Given the description of an element on the screen output the (x, y) to click on. 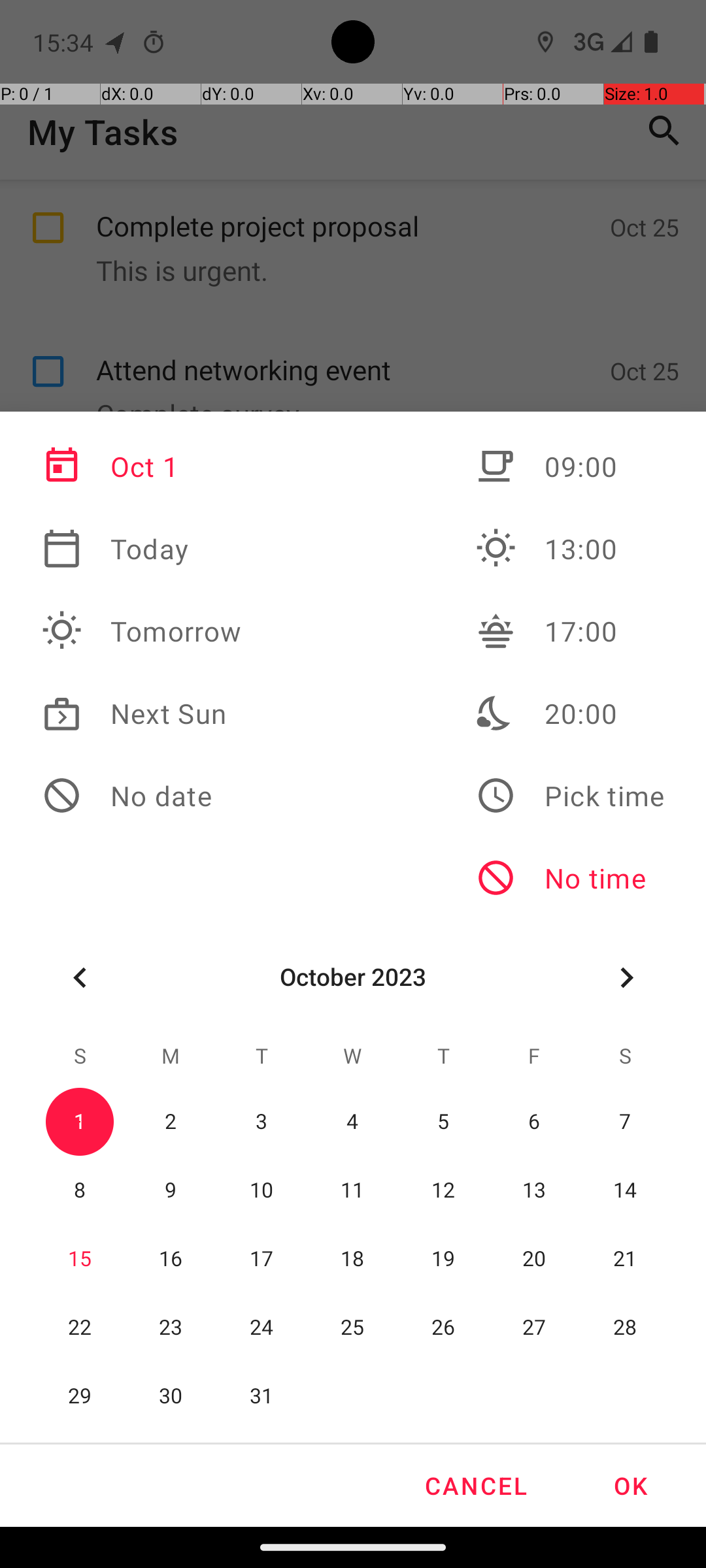
Oct 1 Element type: android.widget.CompoundButton (141, 466)
